Given the description of an element on the screen output the (x, y) to click on. 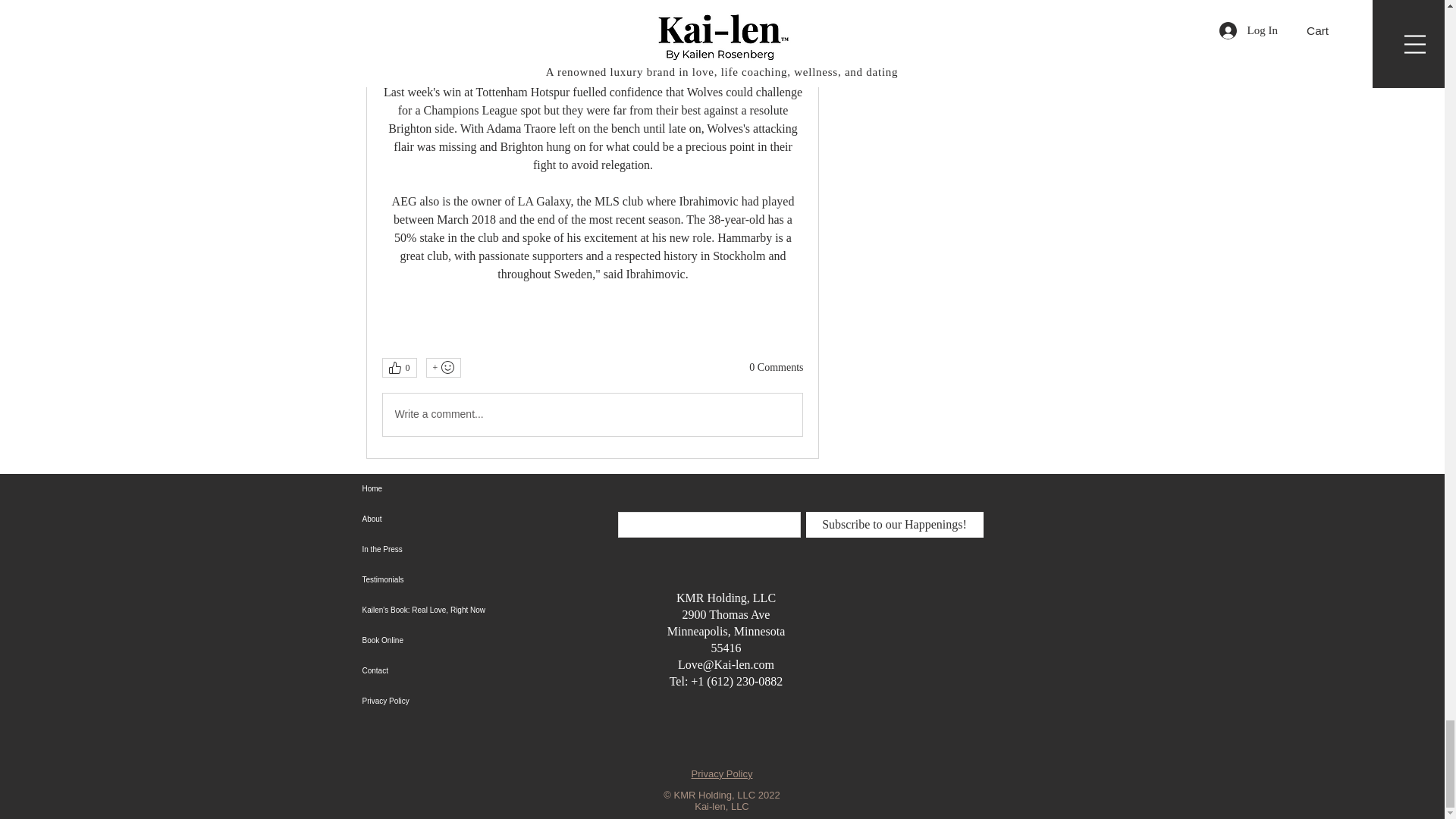
Subscribe to our Happenings! (893, 524)
Book Online (459, 640)
Write a comment... (591, 414)
In the Press (459, 549)
Contact (459, 671)
Privacy Policy (459, 701)
Testimonials (459, 580)
About (459, 519)
Kailen's Book: Real Love, Right Now (459, 610)
Privacy Policy (721, 773)
Home (459, 489)
0 Comments (776, 367)
